Given the description of an element on the screen output the (x, y) to click on. 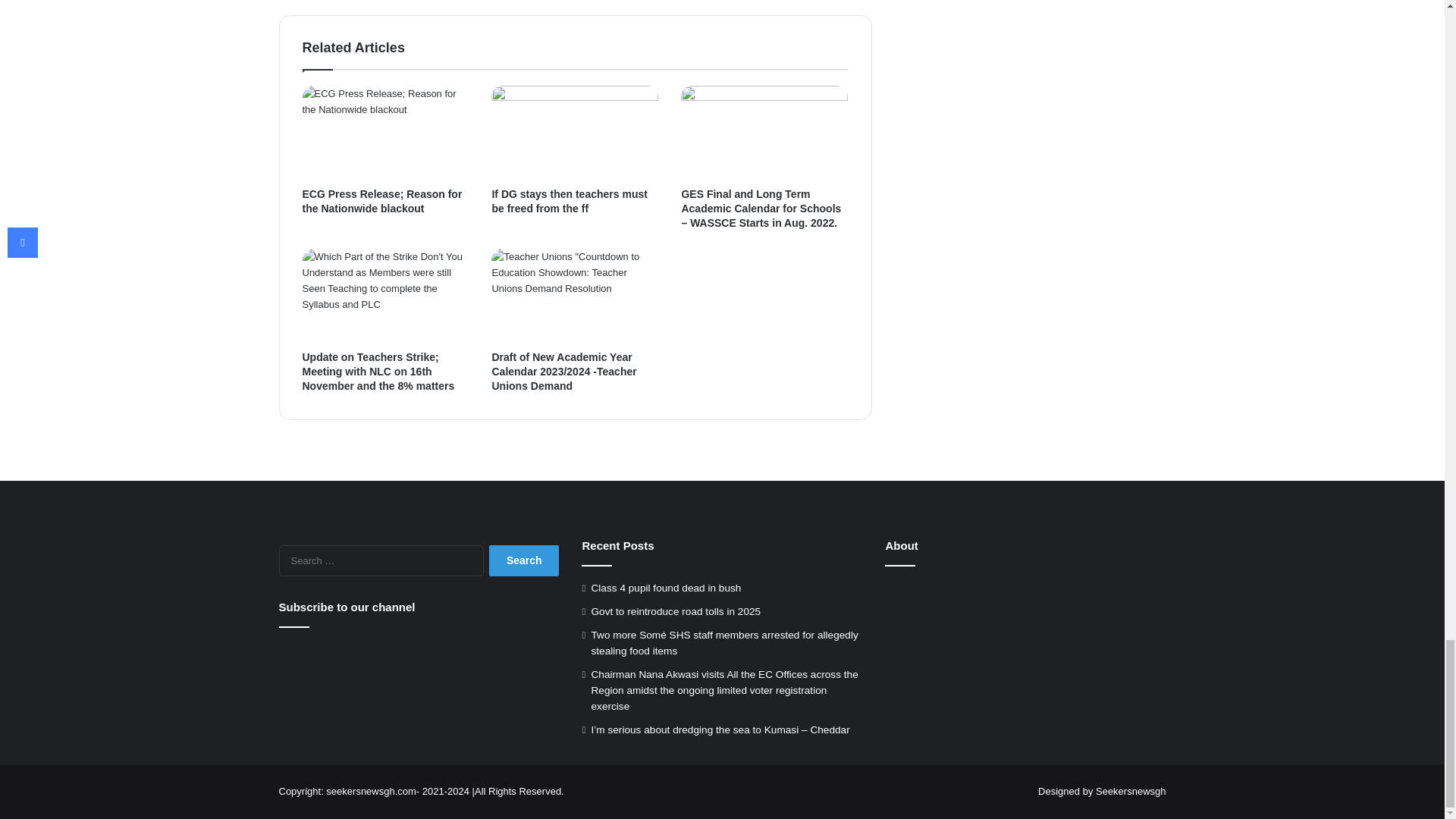
Search (524, 560)
Search (524, 560)
